Given the description of an element on the screen output the (x, y) to click on. 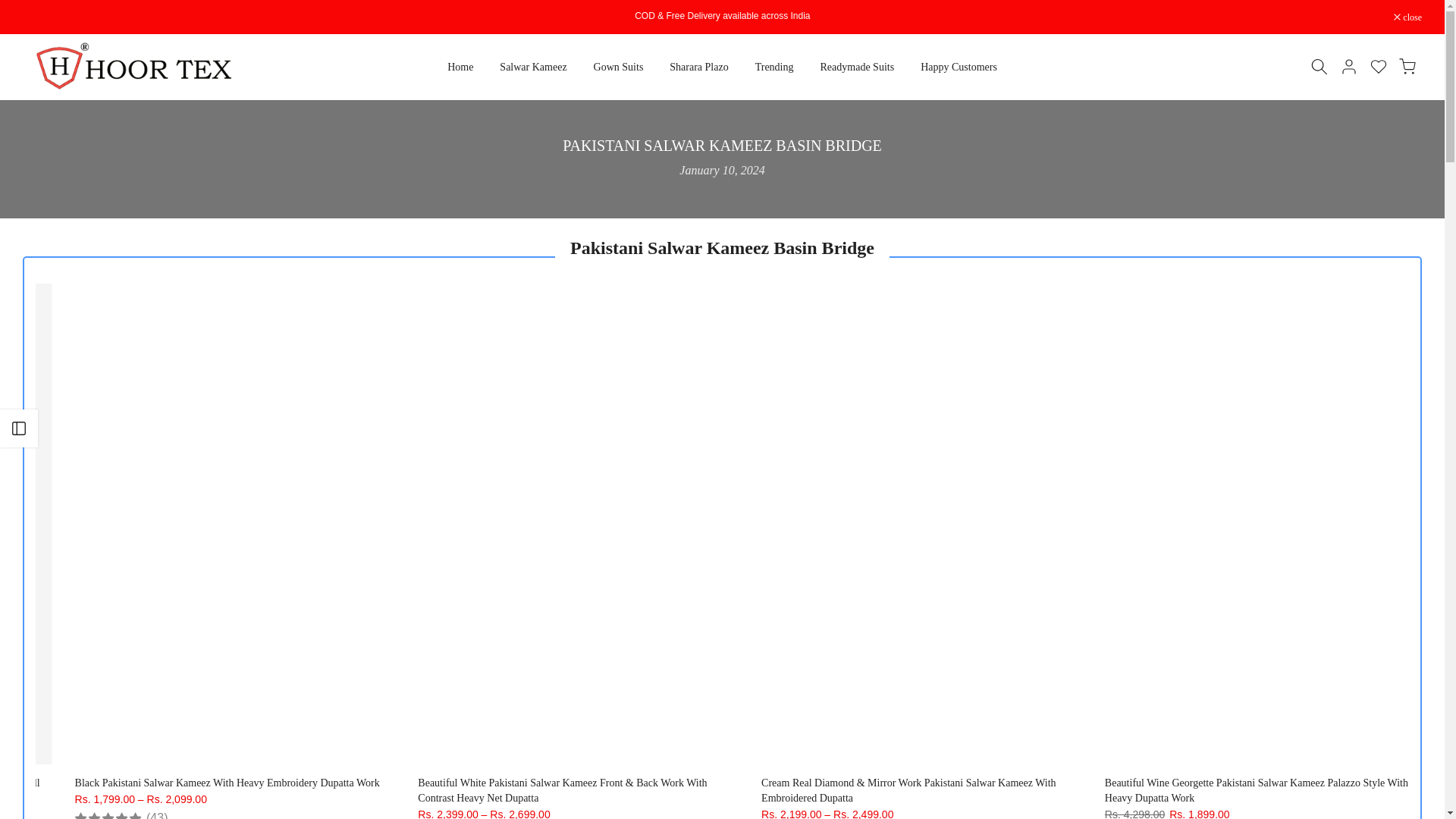
close (1407, 16)
Trending (773, 67)
Skip to content (10, 7)
Sharara Plazo (698, 67)
Readymade Suits (856, 67)
Salwar Kameez (532, 67)
Happy Customers (958, 67)
Home (459, 67)
